Given the description of an element on the screen output the (x, y) to click on. 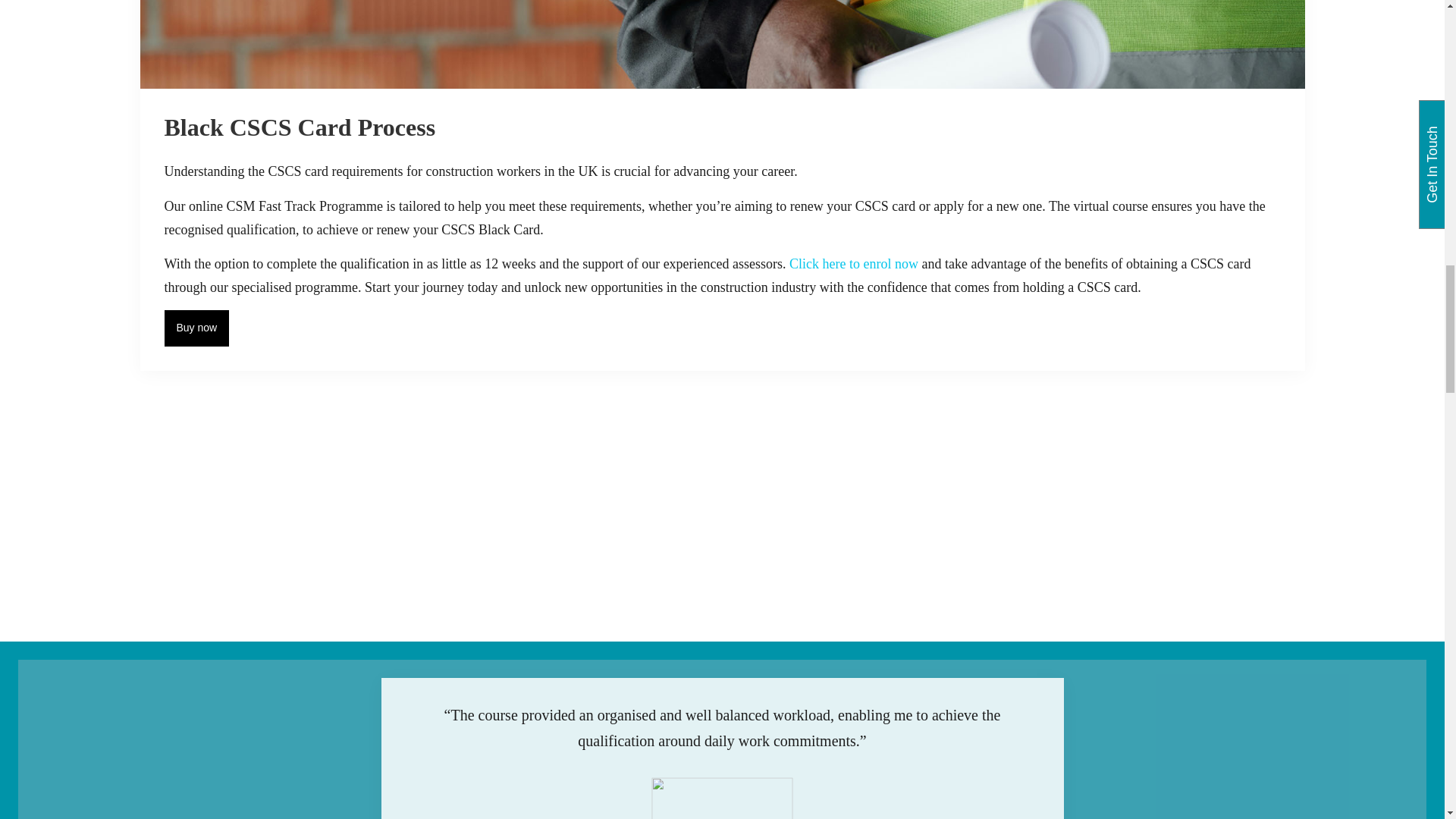
Click here to enrol now (853, 263)
Buy now (195, 328)
